Given the description of an element on the screen output the (x, y) to click on. 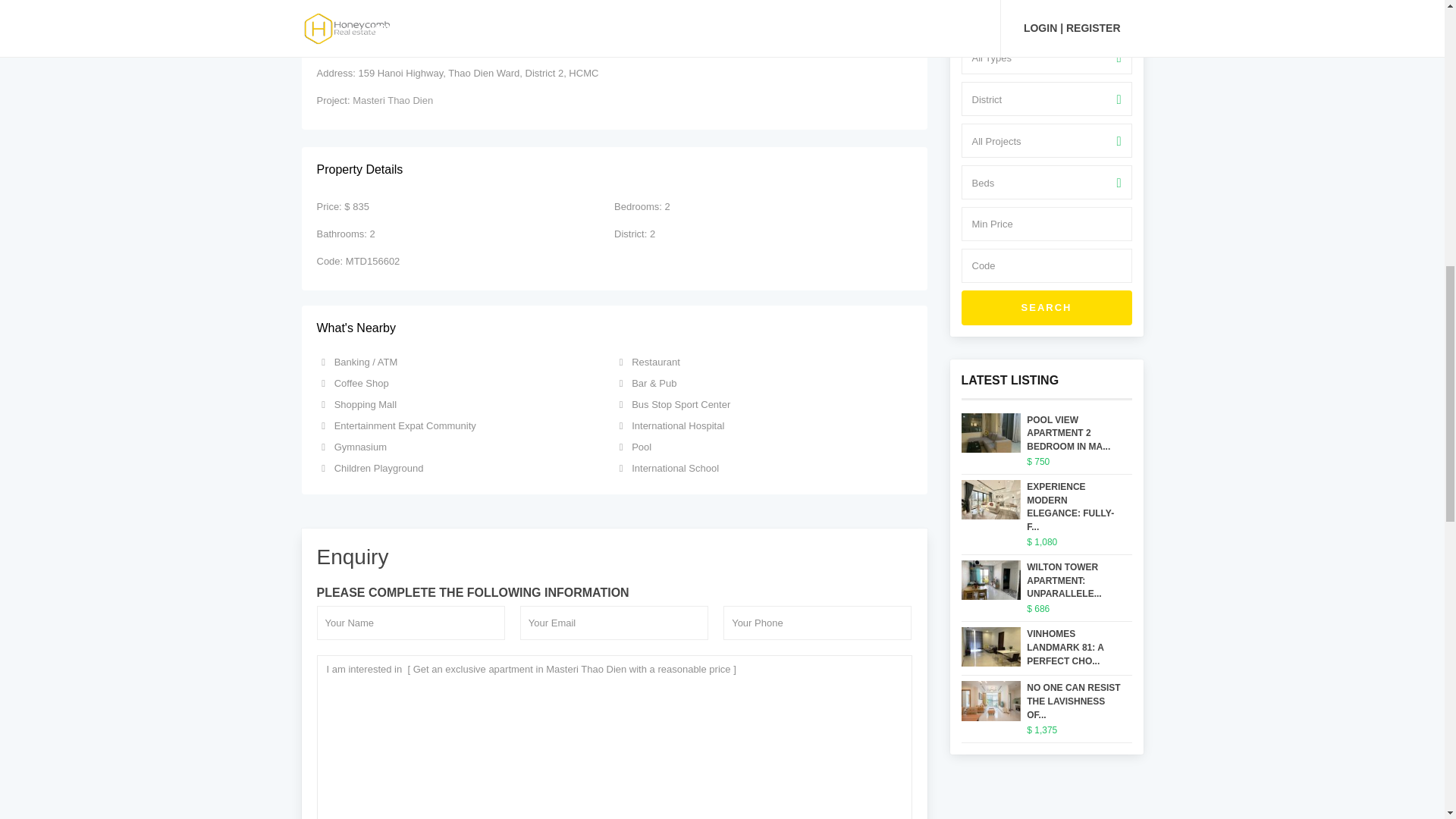
What'S Nearby (614, 328)
Property Address (614, 36)
SEARCH (1046, 307)
Property Details (614, 170)
Masteri Thao Dien (392, 100)
